Given the description of an element on the screen output the (x, y) to click on. 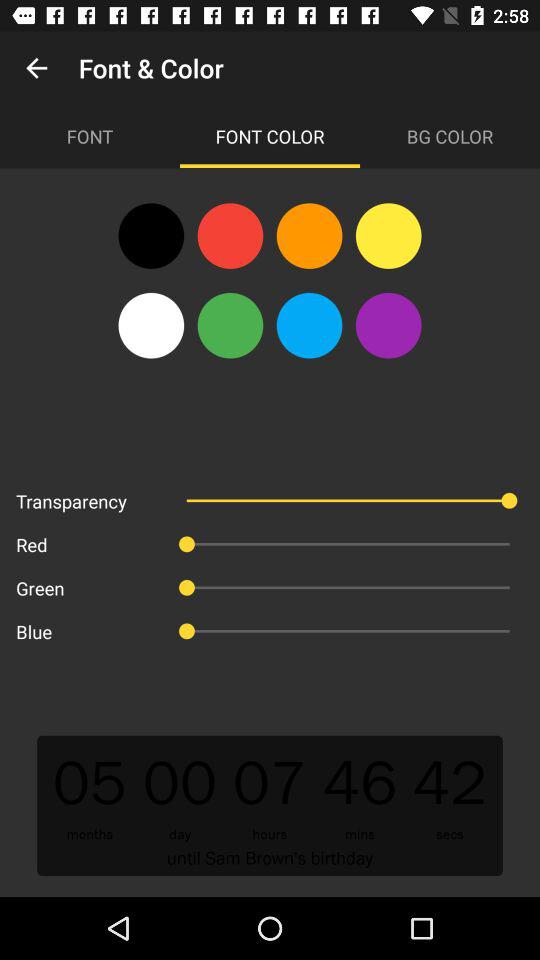
press app next to font & color (36, 68)
